Given the description of an element on the screen output the (x, y) to click on. 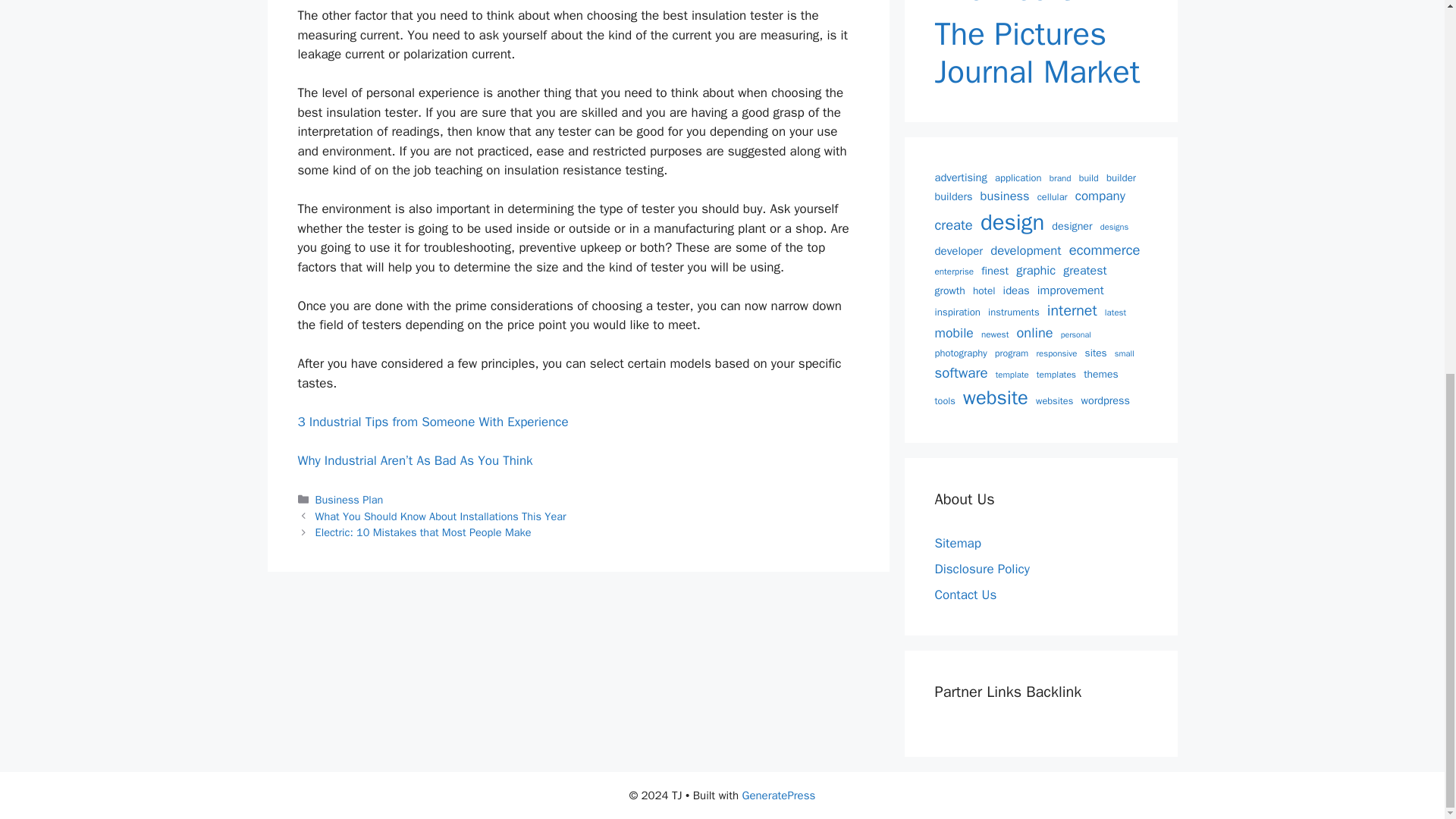
The Pictures Journal Market (1040, 53)
Photography Comes From The Heart (1040, 4)
Electric: 10 Mistakes that Most People Make (423, 531)
builders (953, 197)
finest (995, 271)
developer (958, 251)
business (1004, 196)
designer (1071, 226)
3 Industrial Tips from Someone With Experience (432, 421)
design (1011, 222)
What You Should Know About Installations This Year (440, 516)
enterprise (954, 272)
Business Plan (349, 499)
create (953, 224)
development (1025, 250)
